Given the description of an element on the screen output the (x, y) to click on. 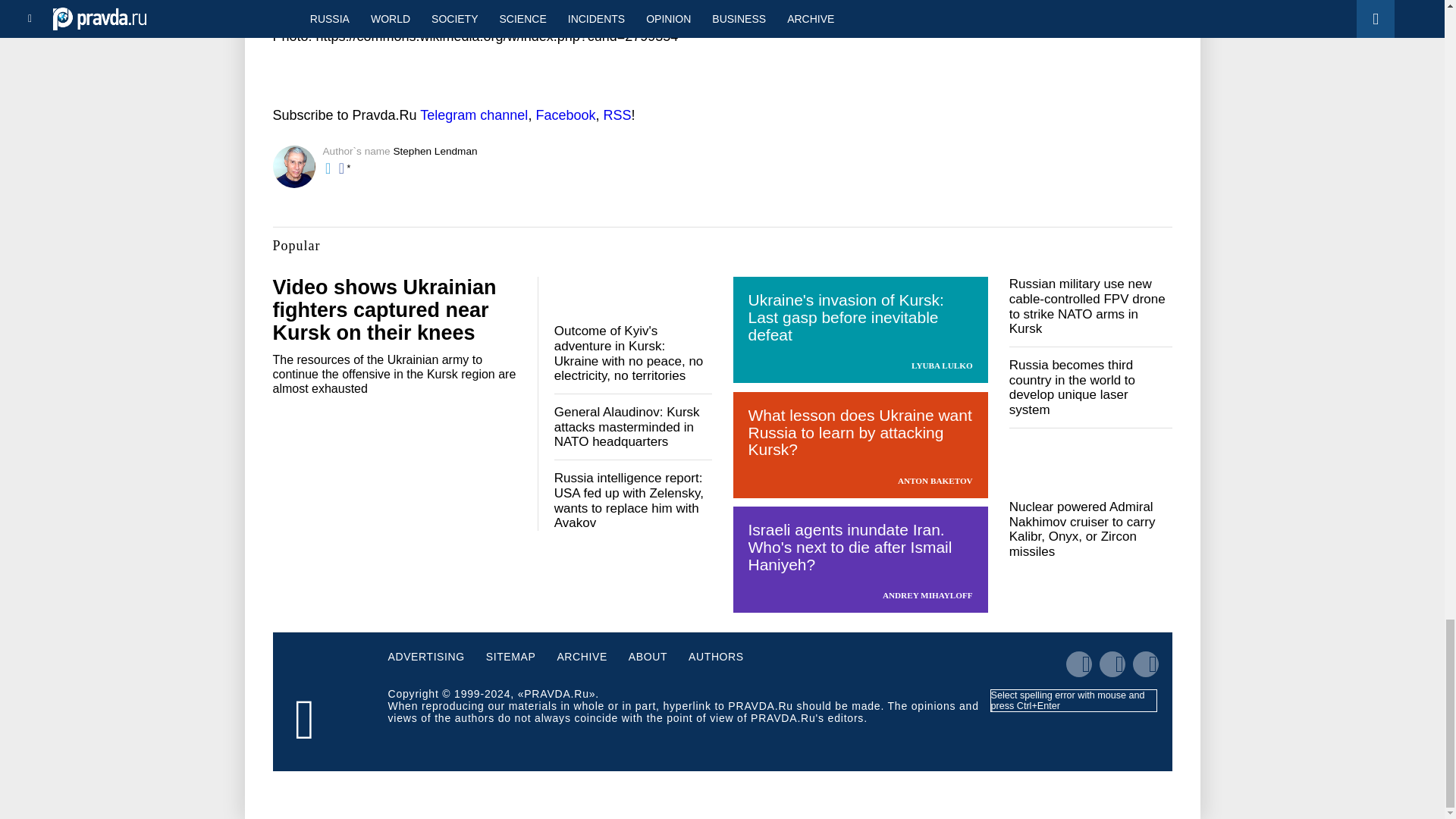
RSS (616, 114)
Facebook (565, 114)
Stephen Lendman (435, 151)
Telegram channel (473, 114)
